Given the description of an element on the screen output the (x, y) to click on. 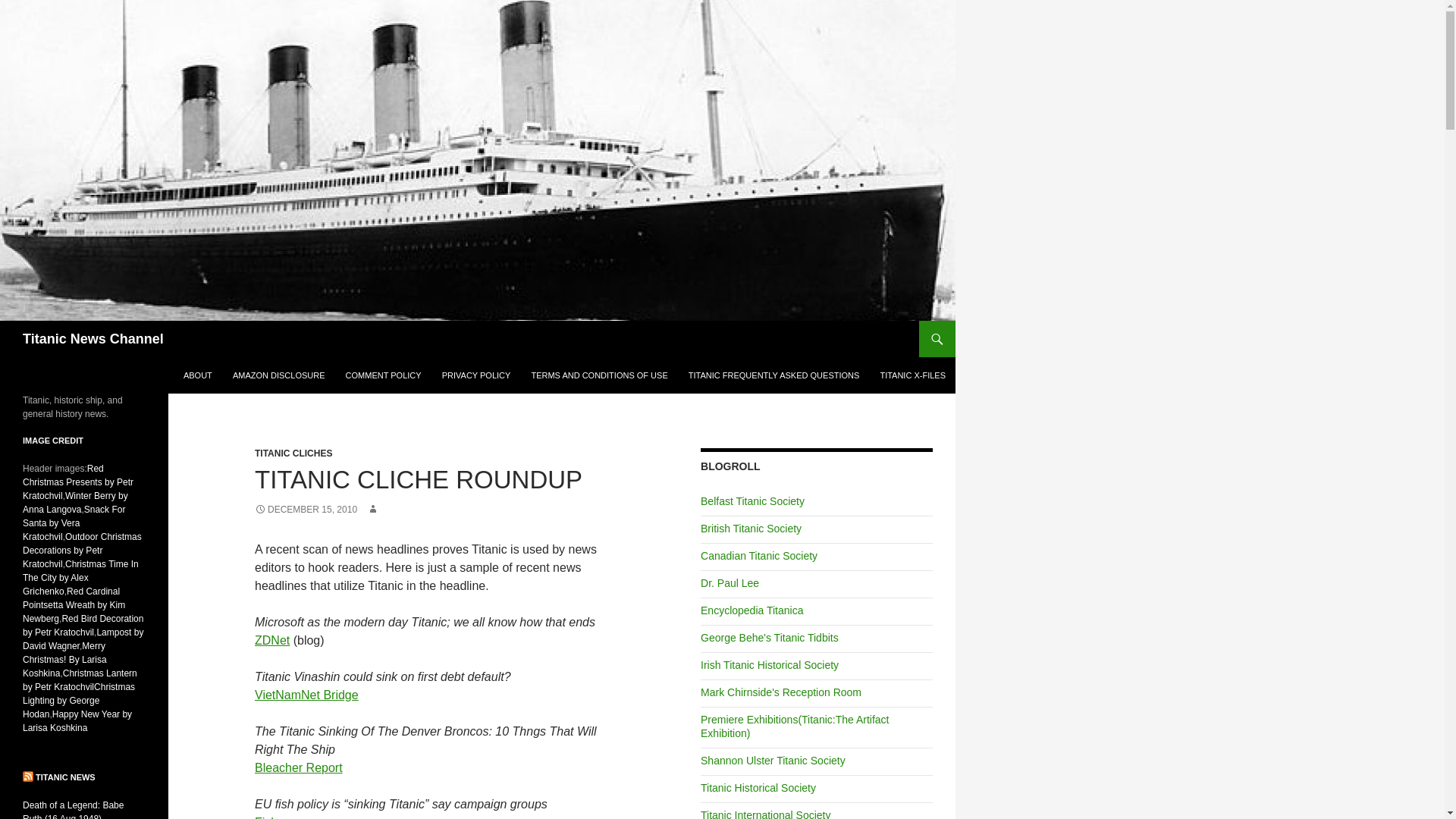
Belfast Titanic Society (752, 500)
Fishnewseu (286, 817)
PRIVACY POLICY (475, 375)
Irish Titanic Historical Society (769, 664)
Titanic Historical Society (757, 787)
Bleacher Report (298, 767)
Mark Chirnside's Reception Room (780, 692)
DECEMBER 15, 2010 (305, 509)
COMMENT POLICY (383, 375)
